Given the description of an element on the screen output the (x, y) to click on. 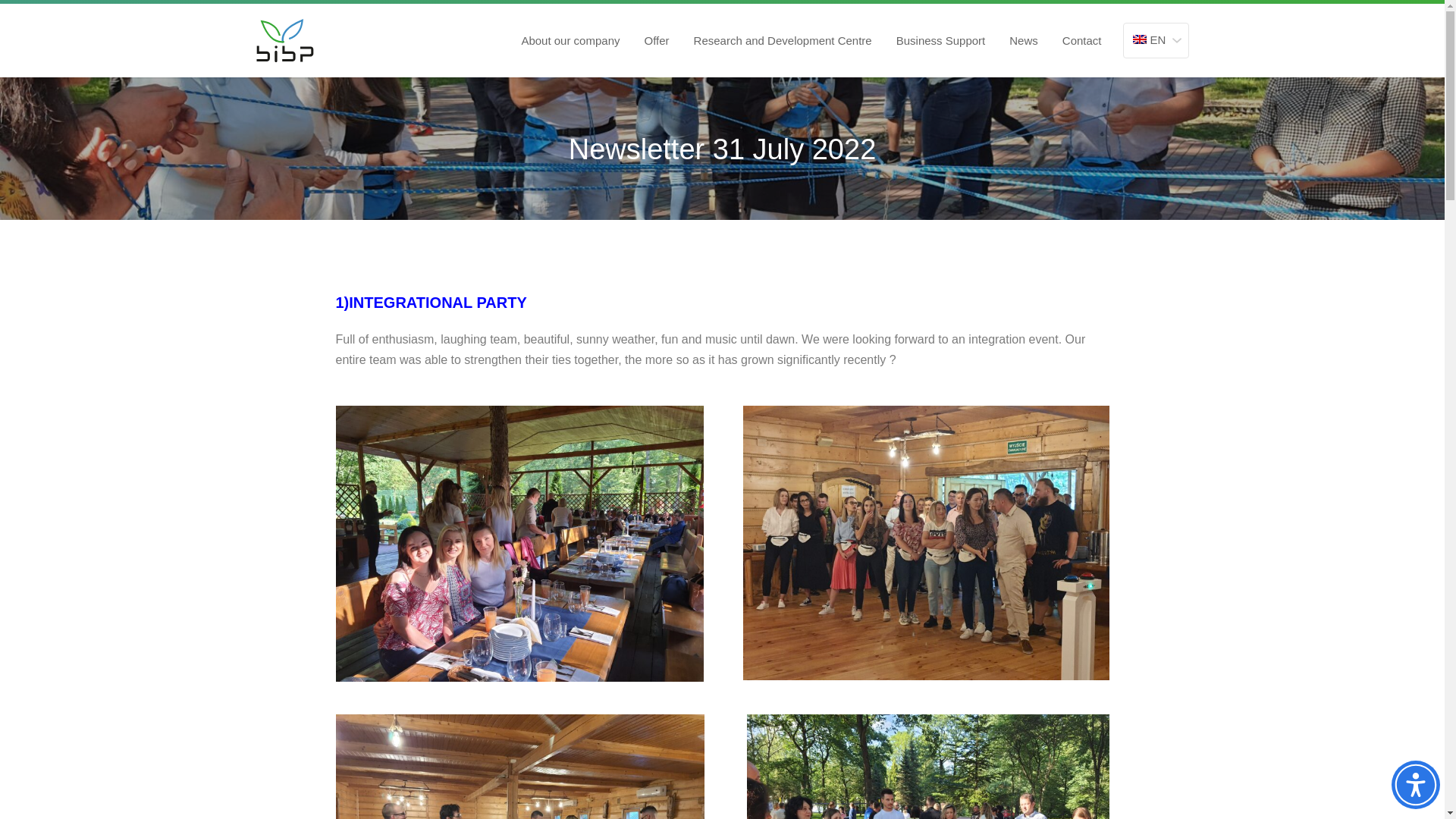
Worki bag in box BIBP (285, 40)
About our company (569, 10)
News (1023, 25)
Accessibility Menu (1415, 784)
EN (1155, 36)
Research and Development Centre (783, 20)
Offer (655, 15)
Contact (1082, 35)
Business Support (940, 22)
